Given the description of an element on the screen output the (x, y) to click on. 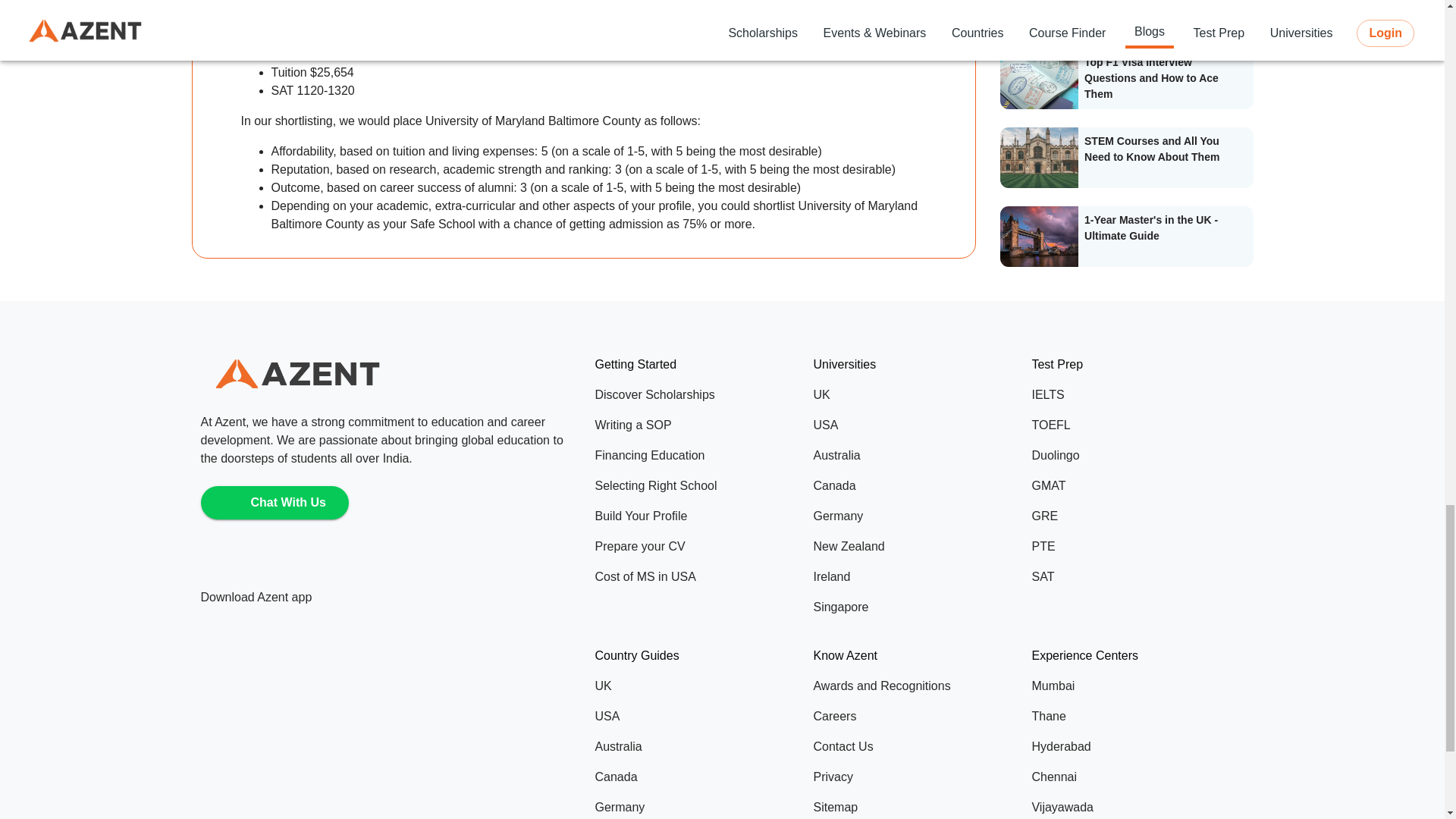
Prepare your CV (697, 546)
Azent Overseas Education (297, 373)
USA (915, 425)
Cost of MS in USA (697, 576)
Chat With Us (274, 502)
Azent's Instagram (253, 562)
New Zealand (915, 546)
Ireland (915, 576)
Writing a SOP (697, 425)
Azent's Youtube (368, 562)
